Given the description of an element on the screen output the (x, y) to click on. 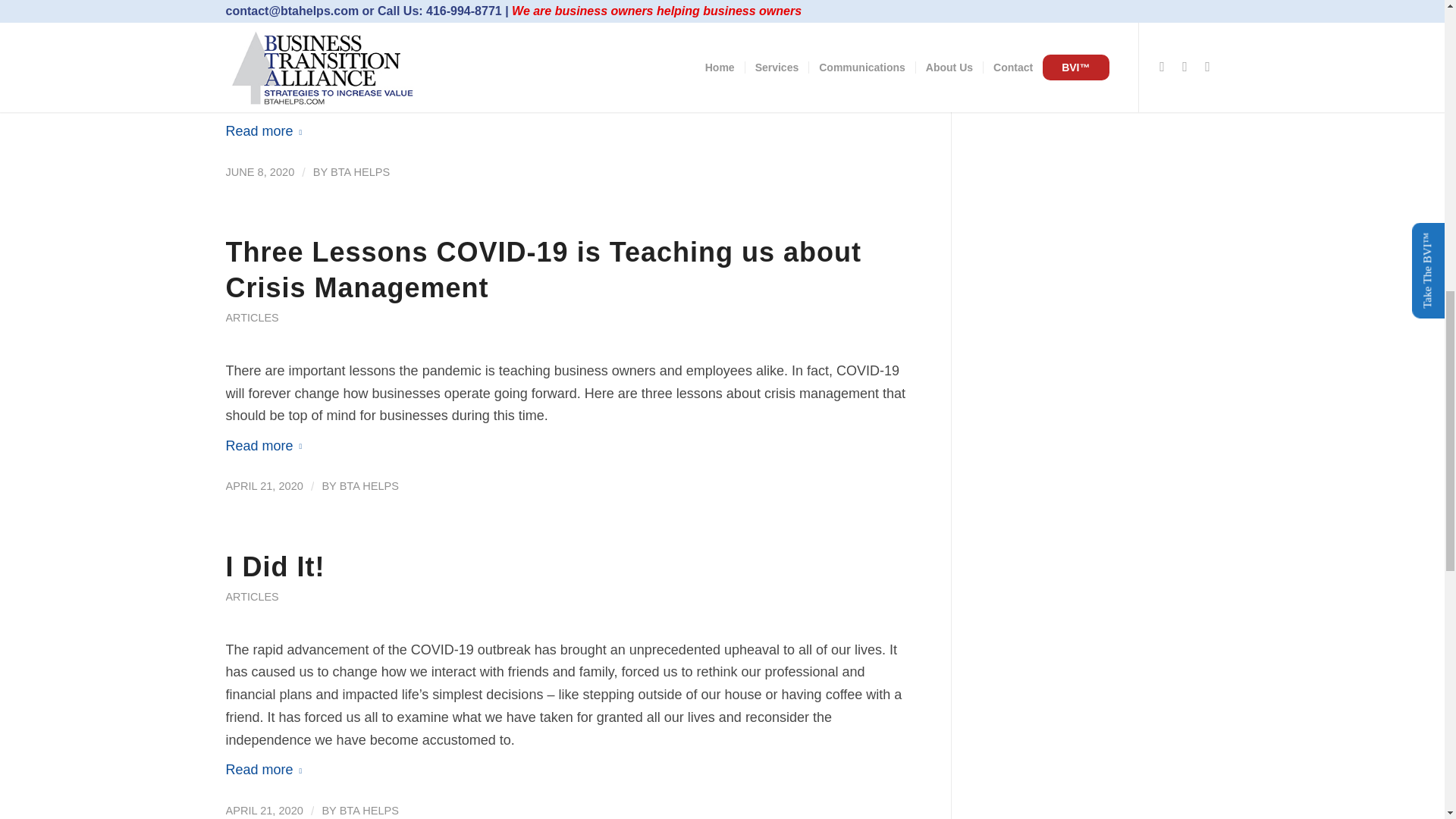
BTA HELPS (360, 172)
Permanent Link: I Did It! (274, 566)
BTA HELPS (368, 485)
Read more (266, 131)
NEWS (242, 48)
Read more (266, 445)
ARTICLES (252, 317)
Posts by BTA Helps (360, 172)
